Given the description of an element on the screen output the (x, y) to click on. 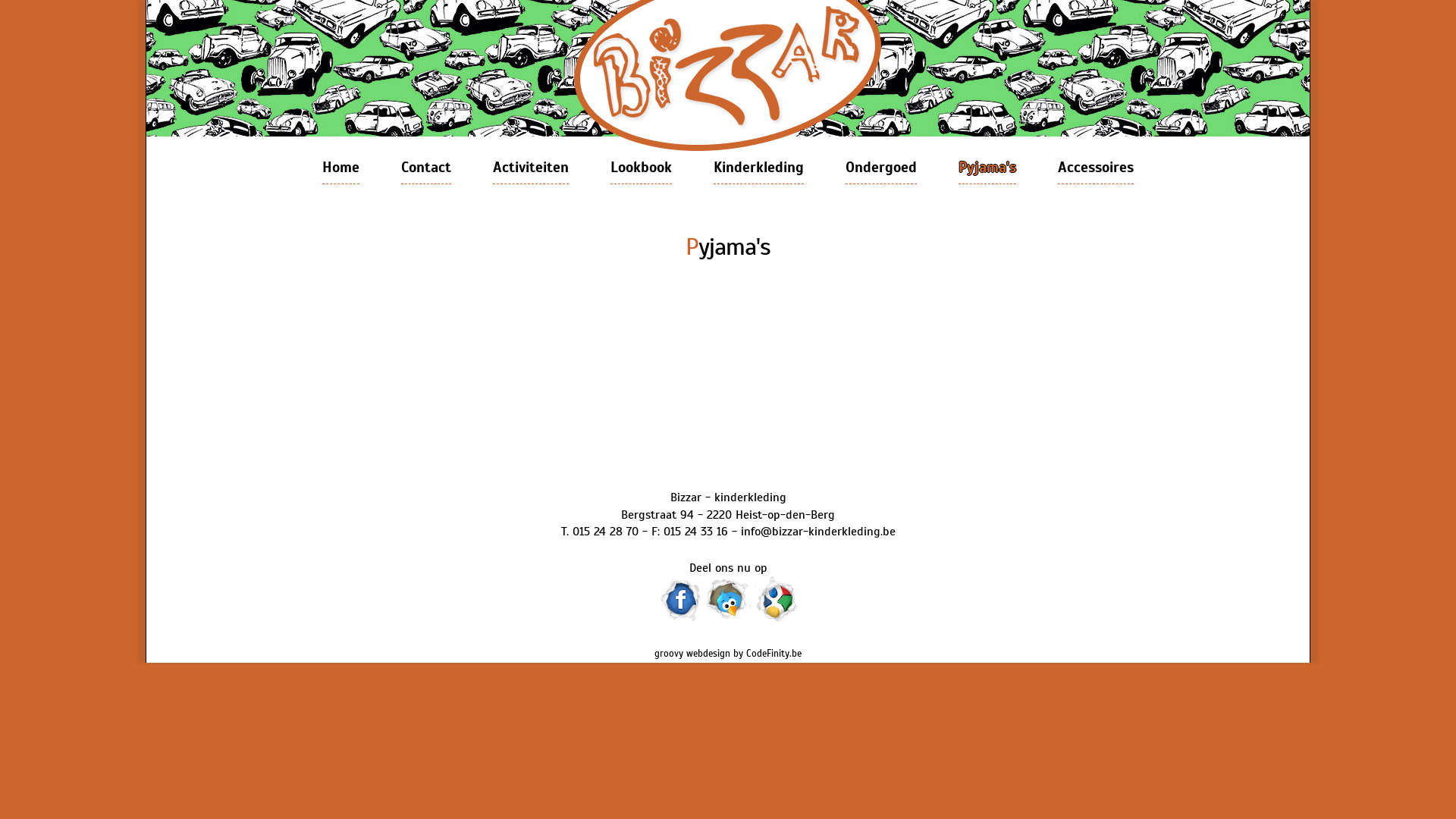
info@bizzar-kinderkleding.be Element type: text (817, 531)
Activiteiten Element type: text (530, 167)
Lookbook Element type: text (640, 167)
Ondergoed Element type: text (880, 167)
Kinderkleding Element type: text (758, 167)
Accessoires Element type: text (1095, 167)
groovy webdesign by CodeFinity.be Element type: text (727, 653)
Contact Element type: text (426, 167)
Home Element type: text (340, 167)
Pyjama's Element type: text (987, 167)
